Given the description of an element on the screen output the (x, y) to click on. 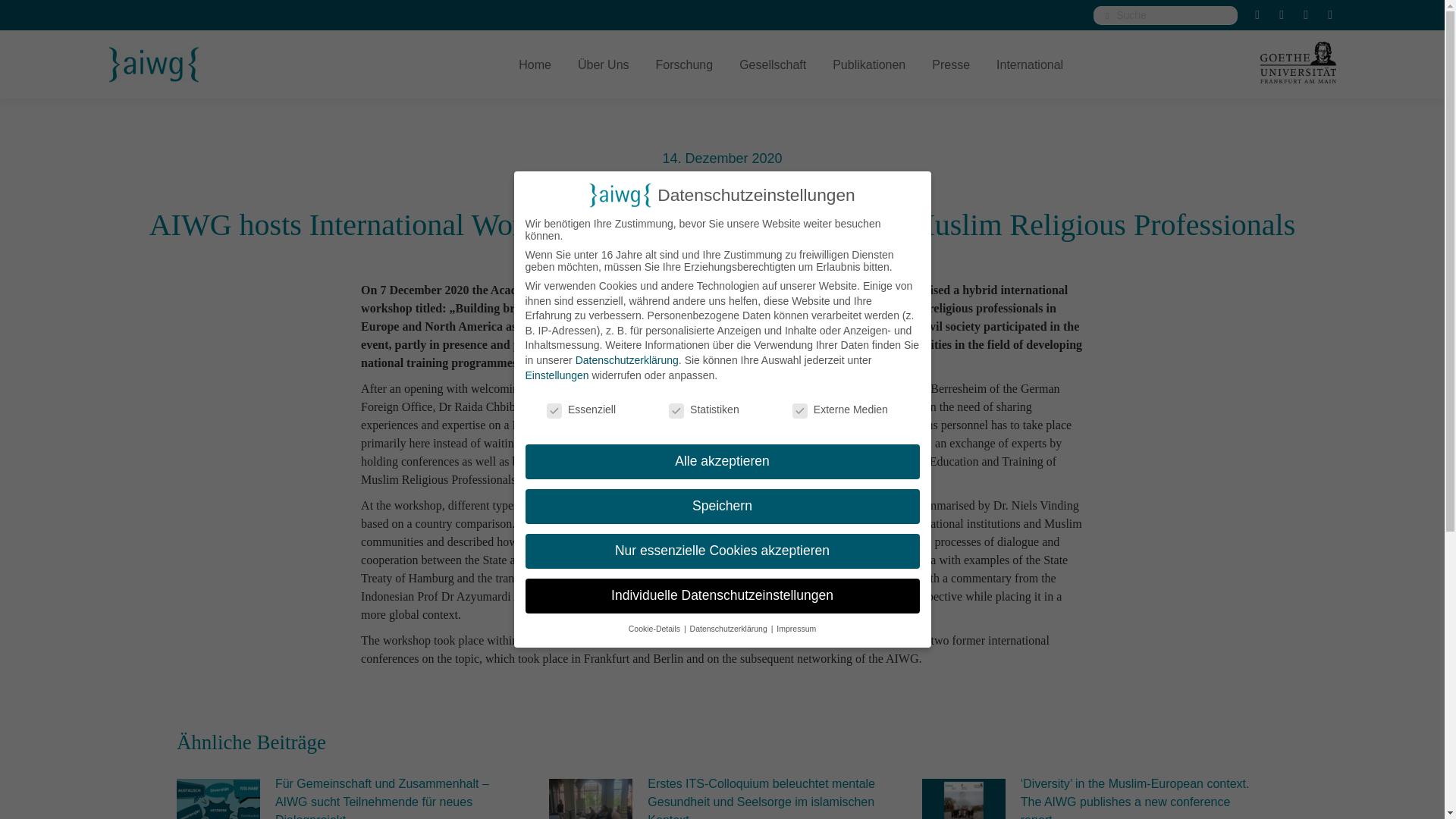
YouTube page opens in new window (1329, 14)
Gesellschaft (772, 64)
Facebook page opens in new window (1280, 14)
International (1028, 64)
Facebook page opens in new window (1280, 14)
Instagram page opens in new window (1305, 14)
Search form (1165, 14)
Los! (26, 16)
X page opens in new window (1257, 14)
X page opens in new window (1257, 14)
Instagram page opens in new window (1305, 14)
YouTube page opens in new window (1329, 14)
Publikationen (868, 64)
